Given the description of an element on the screen output the (x, y) to click on. 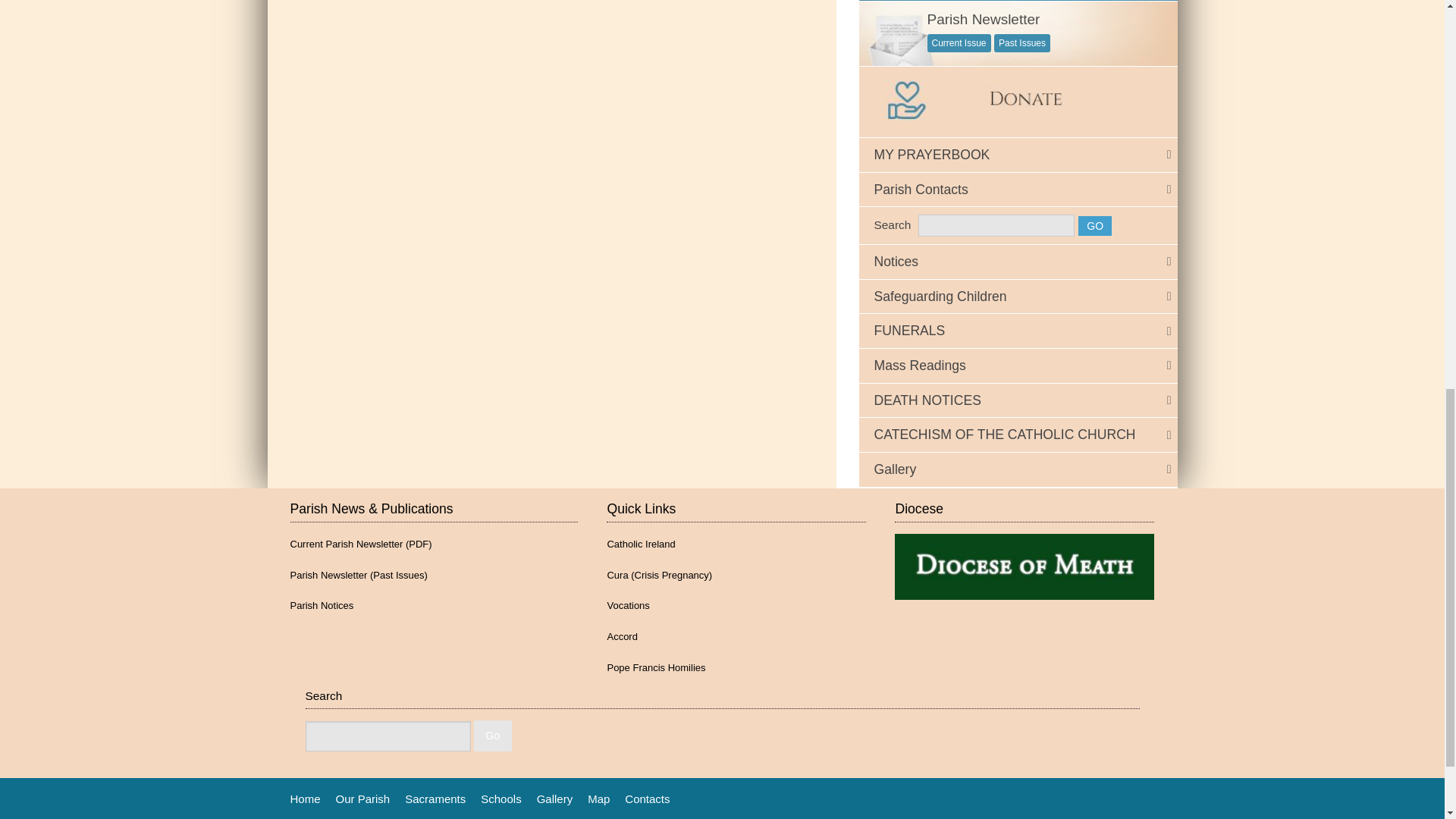
Go (493, 735)
Go (1095, 225)
